Given the description of an element on the screen output the (x, y) to click on. 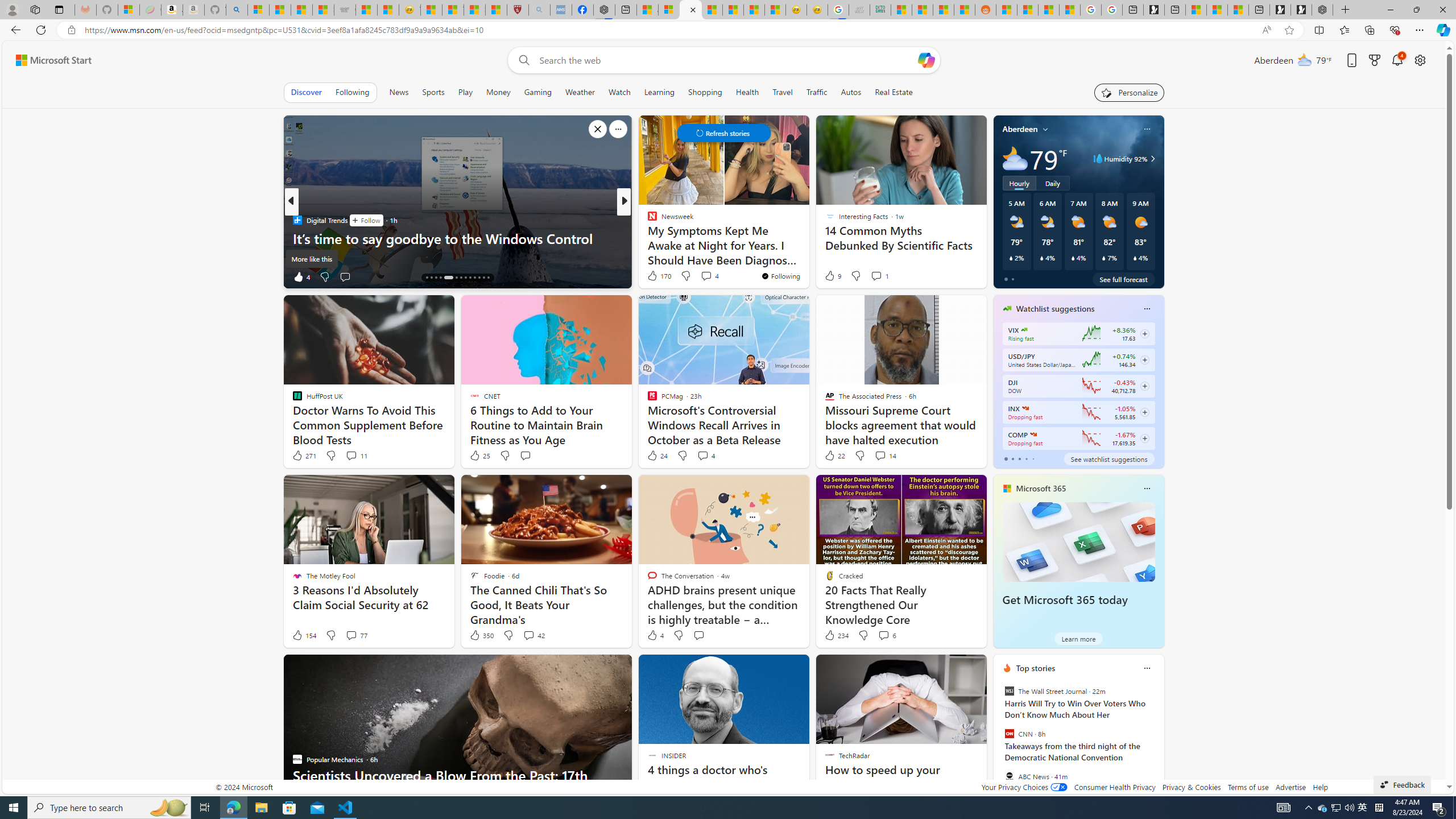
How to clear your browser cache and cookies (807, 256)
previous (998, 741)
